Given the description of an element on the screen output the (x, y) to click on. 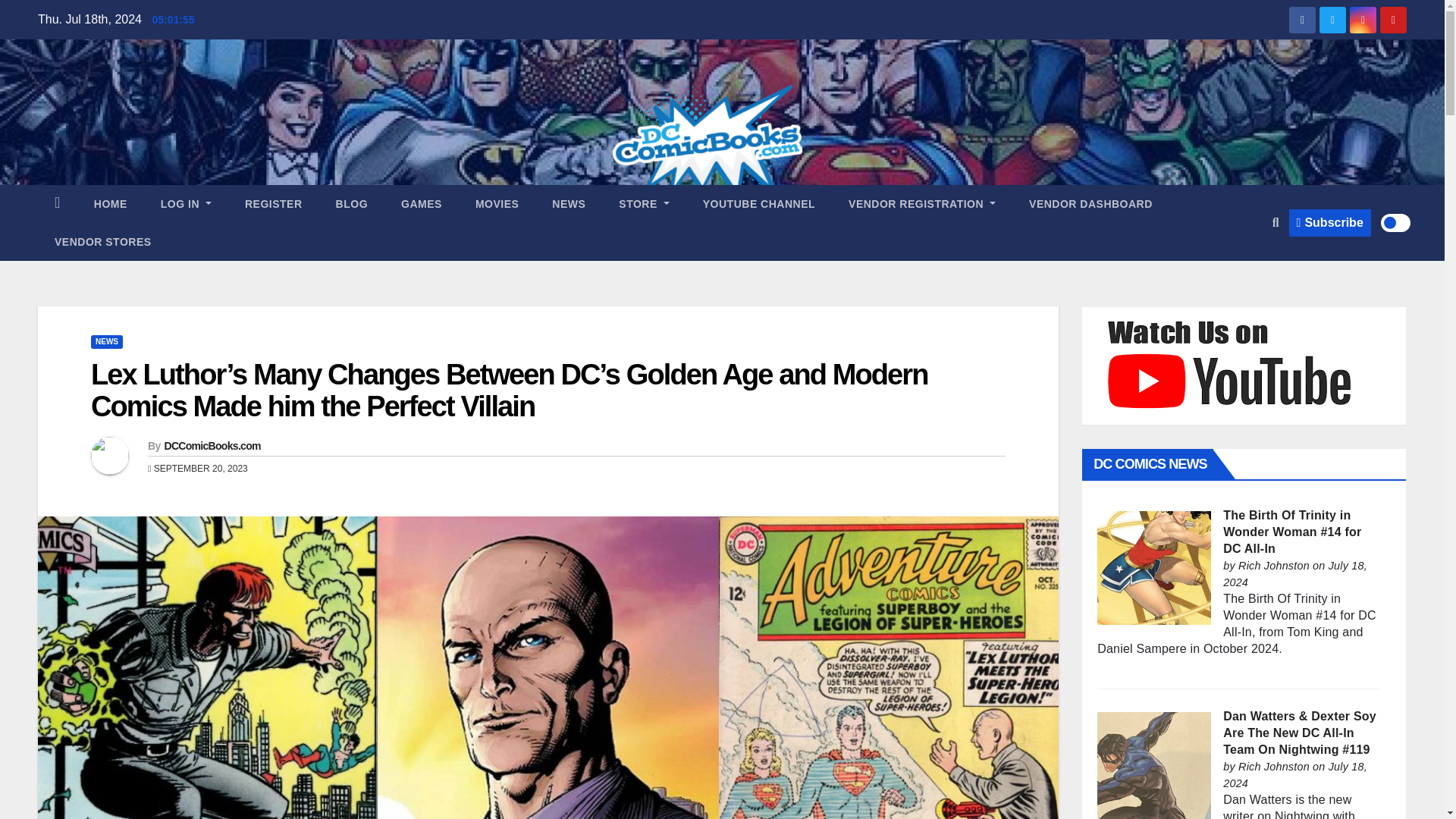
Home (110, 203)
Movies (496, 203)
NEWS (568, 203)
YOUTUBE CHANNEL (758, 203)
Register (273, 203)
News (568, 203)
STORE (643, 203)
VENDOR DASHBOARD (1090, 203)
Blog (351, 203)
BLOG (351, 203)
VENDOR REGISTRATION (921, 203)
Home (57, 203)
REGISTER (273, 203)
VENDOR STORES (102, 241)
HOME (110, 203)
